Given the description of an element on the screen output the (x, y) to click on. 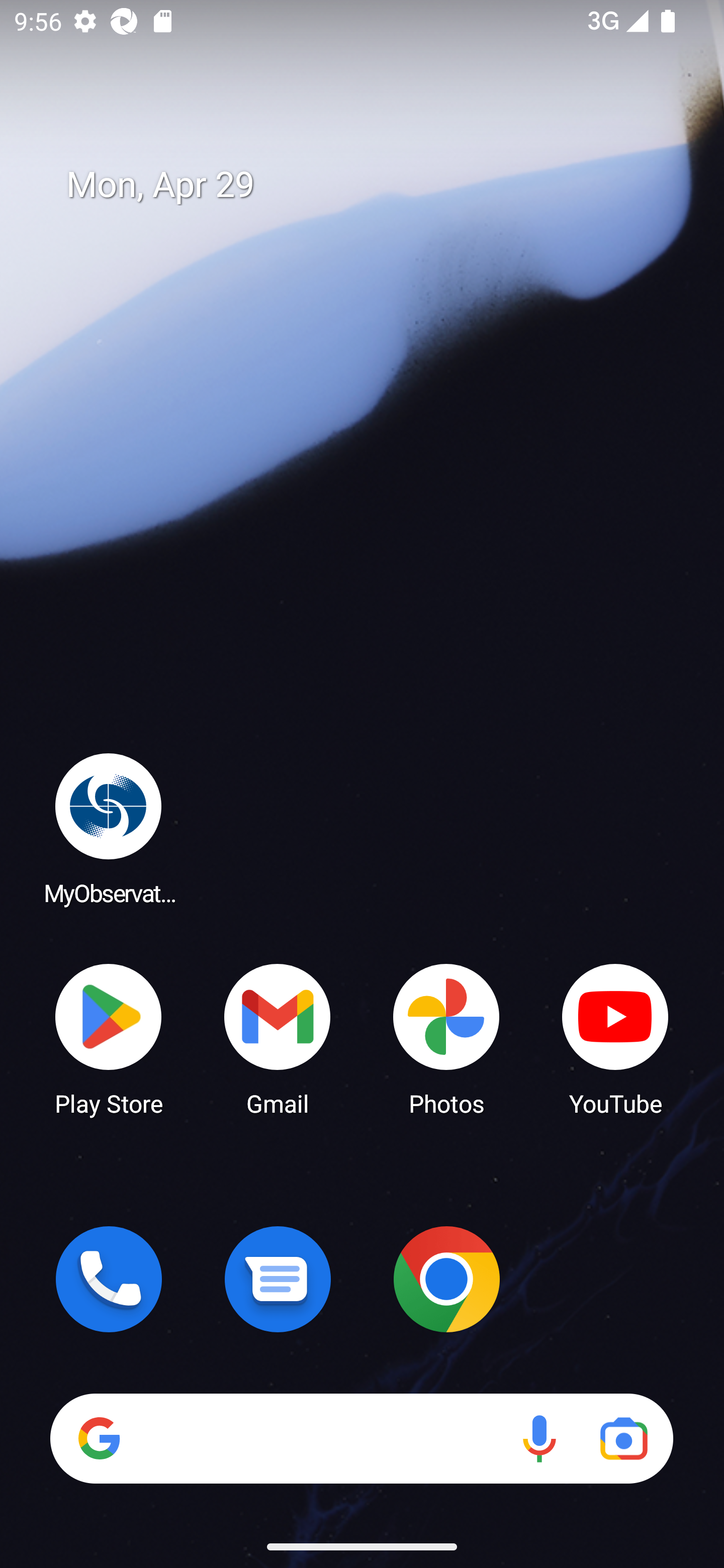
Mon, Apr 29 (375, 184)
MyObservatory (108, 828)
Play Store (108, 1038)
Gmail (277, 1038)
Photos (445, 1038)
YouTube (615, 1038)
Phone (108, 1279)
Messages (277, 1279)
Chrome (446, 1279)
Voice search (539, 1438)
Google Lens (623, 1438)
